Given the description of an element on the screen output the (x, y) to click on. 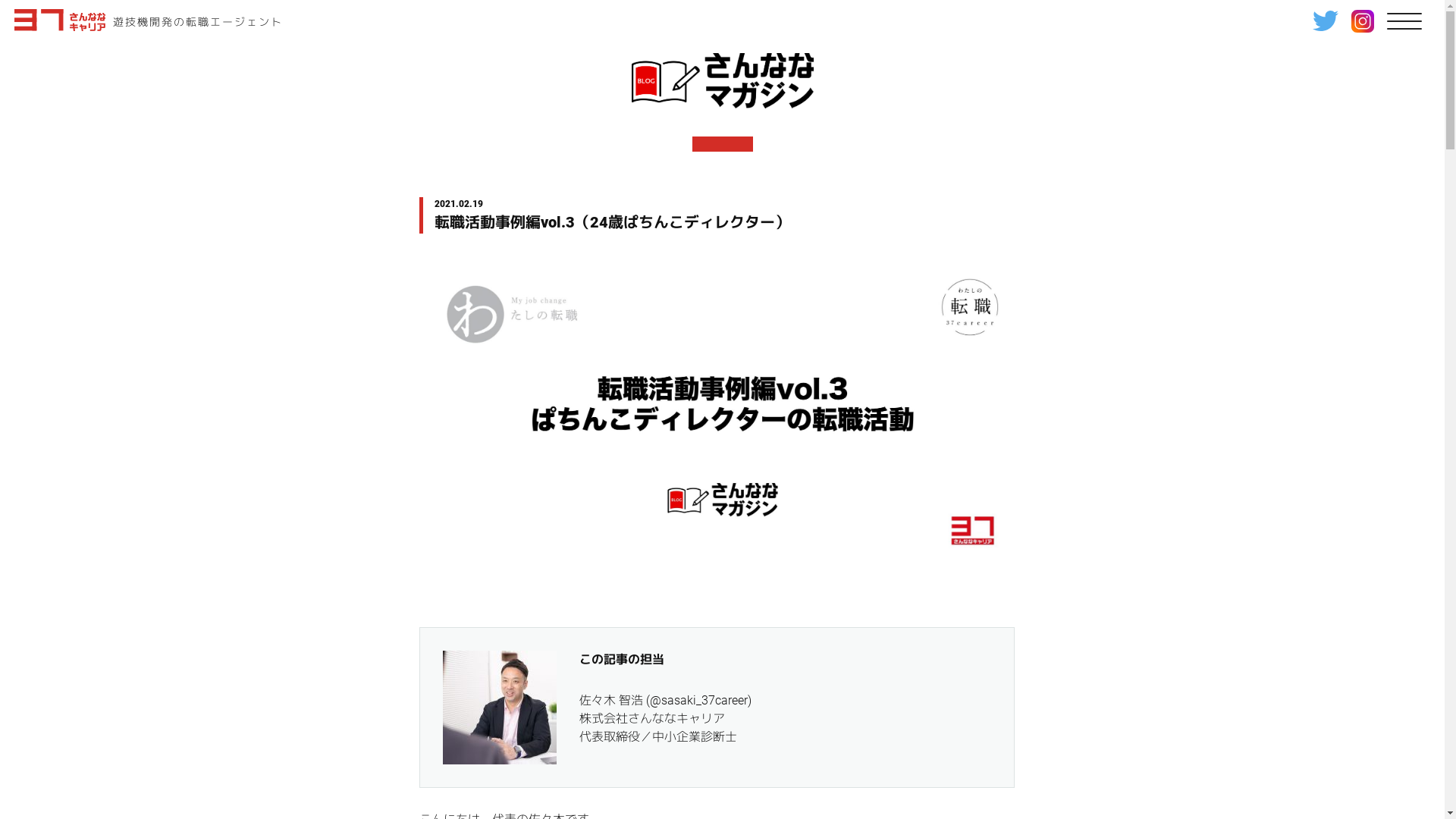
@sasaki_37career Element type: text (697, 700)
